Given the description of an element on the screen output the (x, y) to click on. 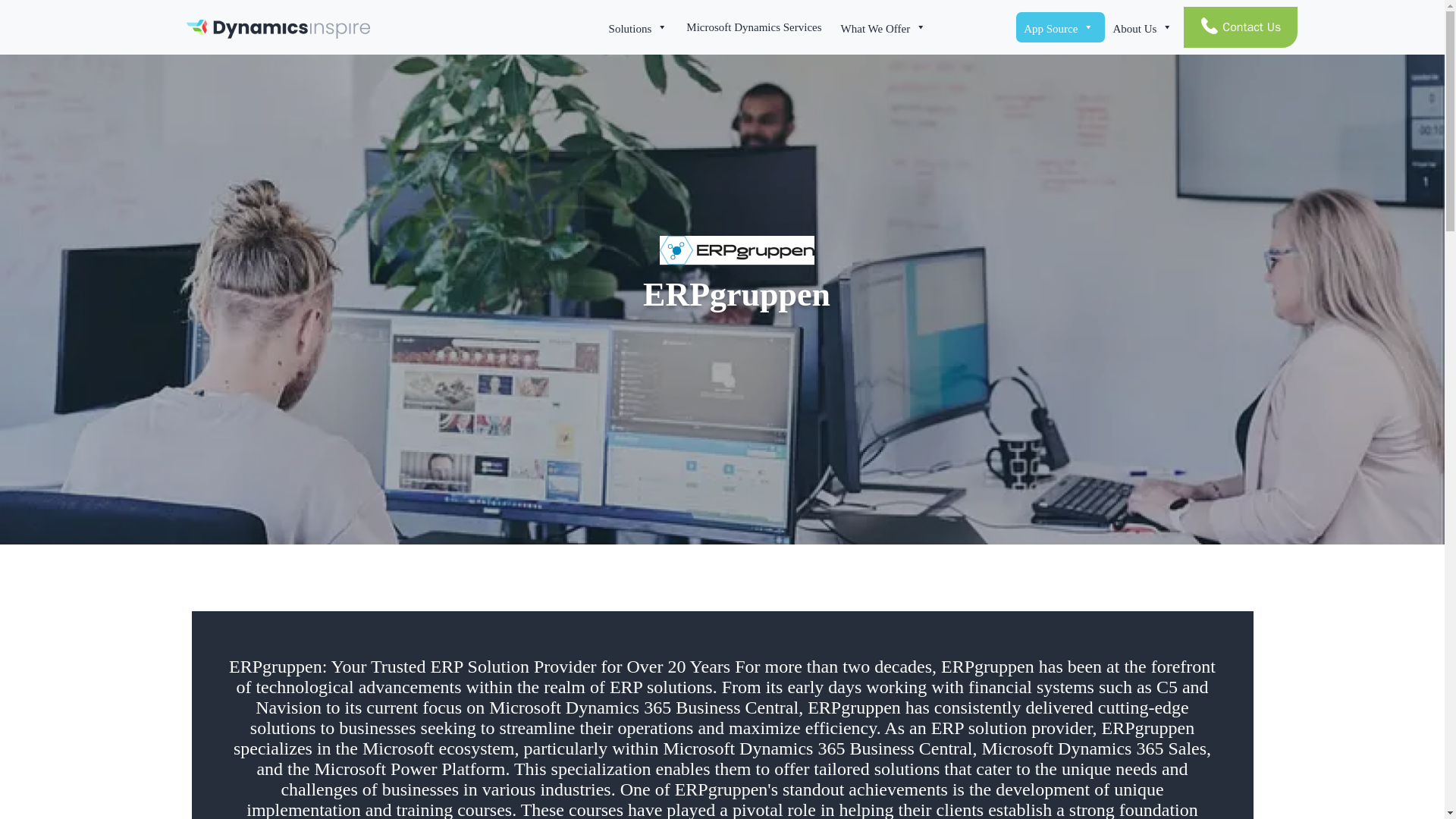
Solutions (640, 27)
What We Offer (884, 27)
Microsoft Dynamics Services (755, 27)
App Source (1060, 27)
About Us (1144, 27)
